Given the description of an element on the screen output the (x, y) to click on. 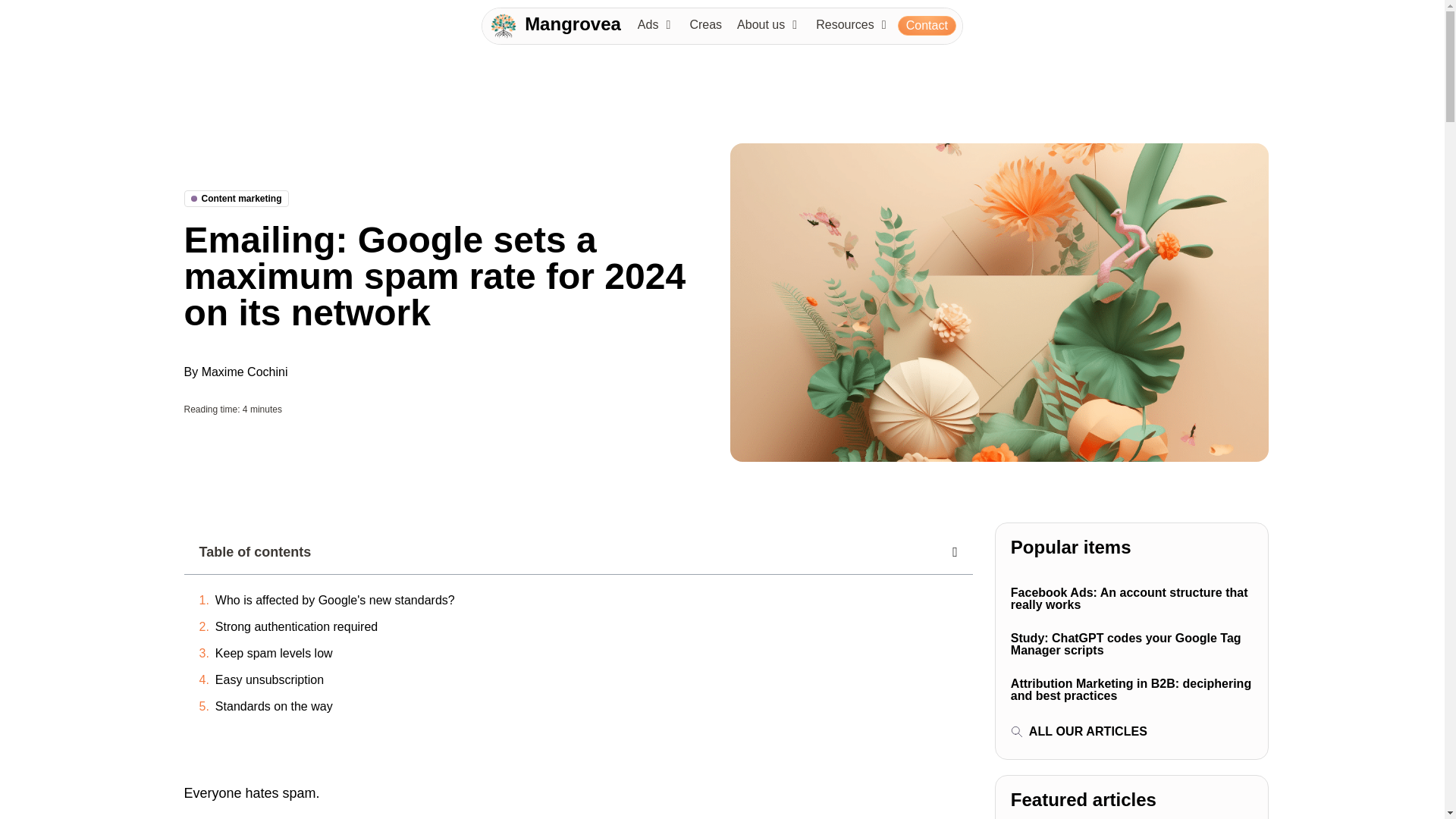
Contact (926, 25)
Ads (648, 24)
Creas (705, 24)
Mangrovea (572, 23)
